Given the description of an element on the screen output the (x, y) to click on. 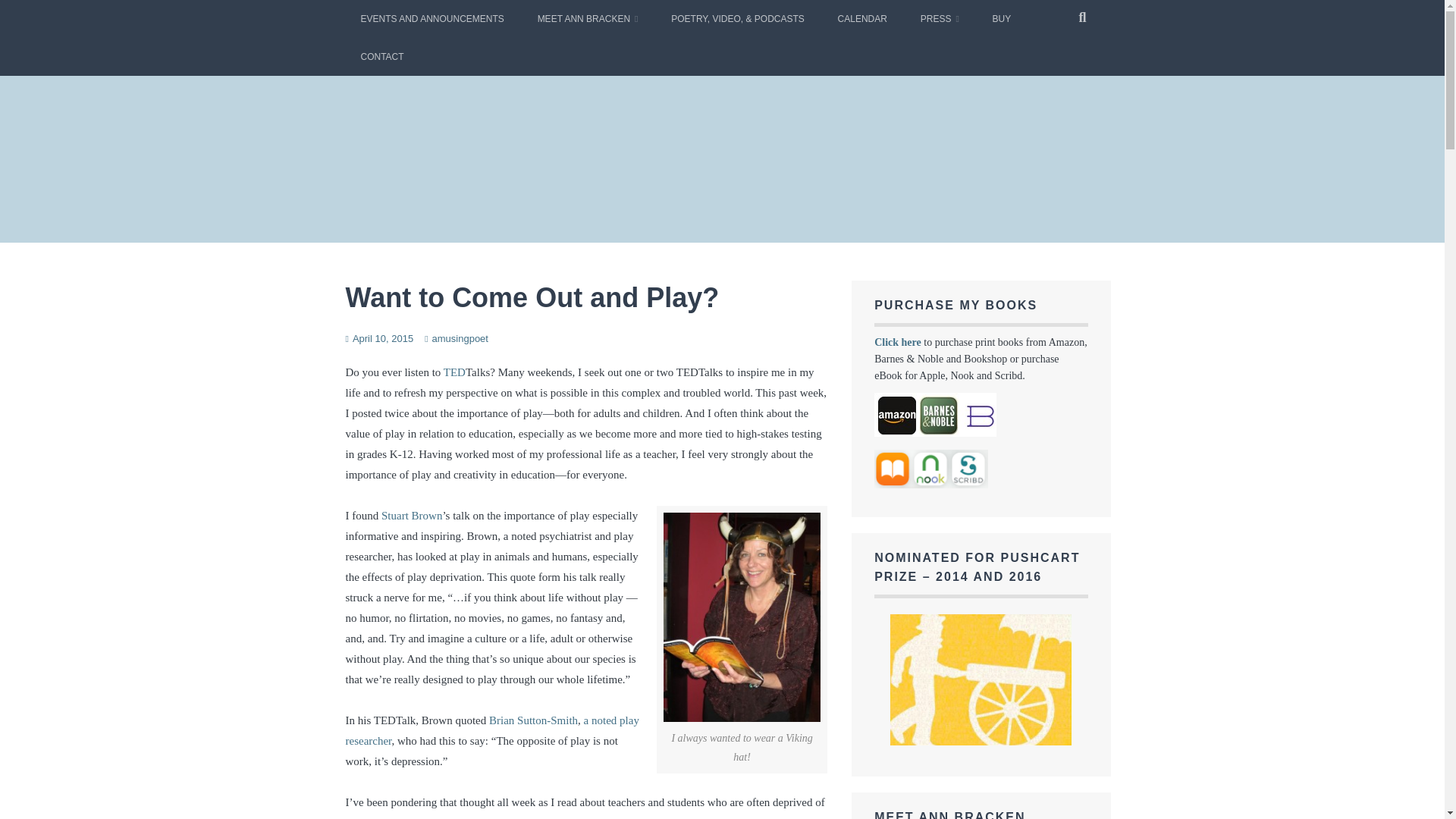
MEET ANN BRACKEN (587, 18)
a noted play researcher (492, 730)
BUY (1001, 18)
PRESS (939, 18)
Stuart Brown (411, 515)
Click here (898, 342)
amusingpoet (459, 337)
April 10, 2015 (382, 337)
TED (454, 372)
Want to Come Out and Play? (532, 296)
CALENDAR (862, 18)
EVENTS AND ANNOUNCEMENTS (432, 18)
CONTACT (382, 56)
Brian Sutton-Smith (533, 720)
